Given the description of an element on the screen output the (x, y) to click on. 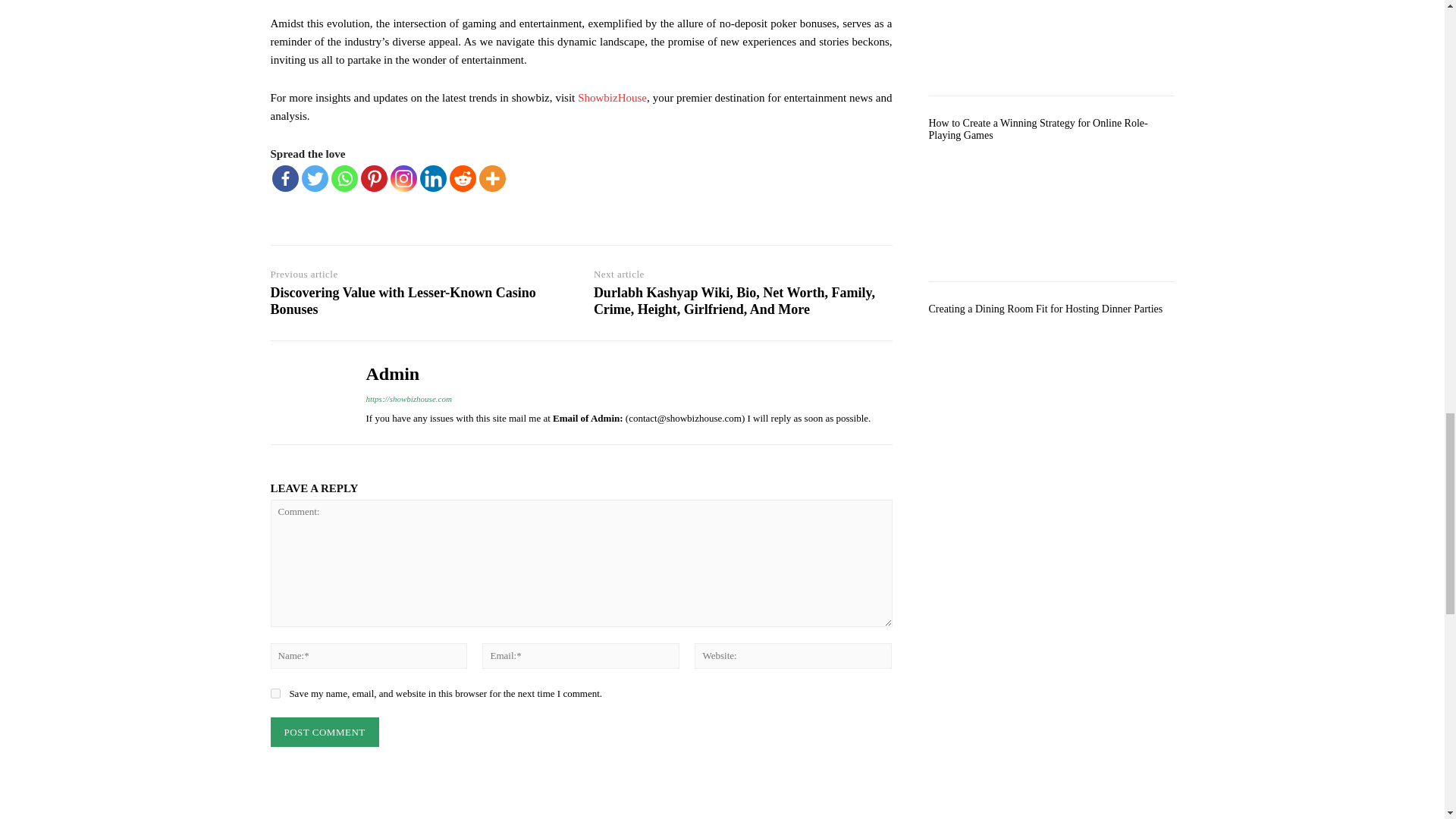
yes (274, 693)
Post Comment (323, 731)
